Given the description of an element on the screen output the (x, y) to click on. 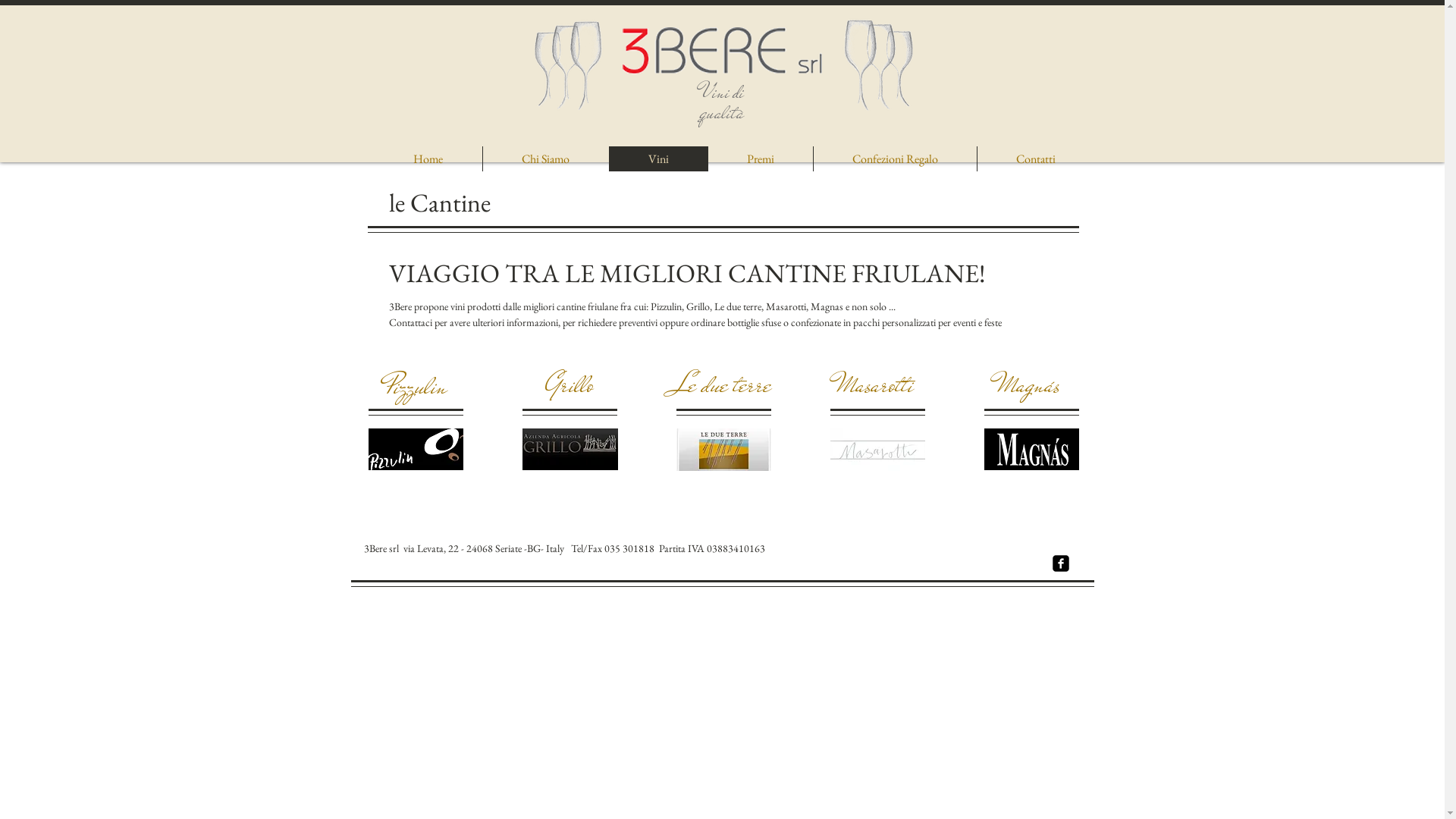
logo_pizzulin.jpg Element type: hover (415, 449)
logo_grillo.jpg Element type: hover (569, 449)
logo-magnas.png Element type: hover (1031, 449)
Pizzulin Element type: text (416, 385)
Home Element type: text (428, 158)
Contatti Element type: text (1035, 158)
Vini Element type: text (657, 158)
Confezioni Regalo Element type: text (894, 158)
Premi Element type: text (759, 158)
logo_Masarotti.jpg Element type: hover (876, 449)
Chi Siamo Element type: text (545, 158)
LogoLeDueTerre.jpg Element type: hover (723, 449)
